Given the description of an element on the screen output the (x, y) to click on. 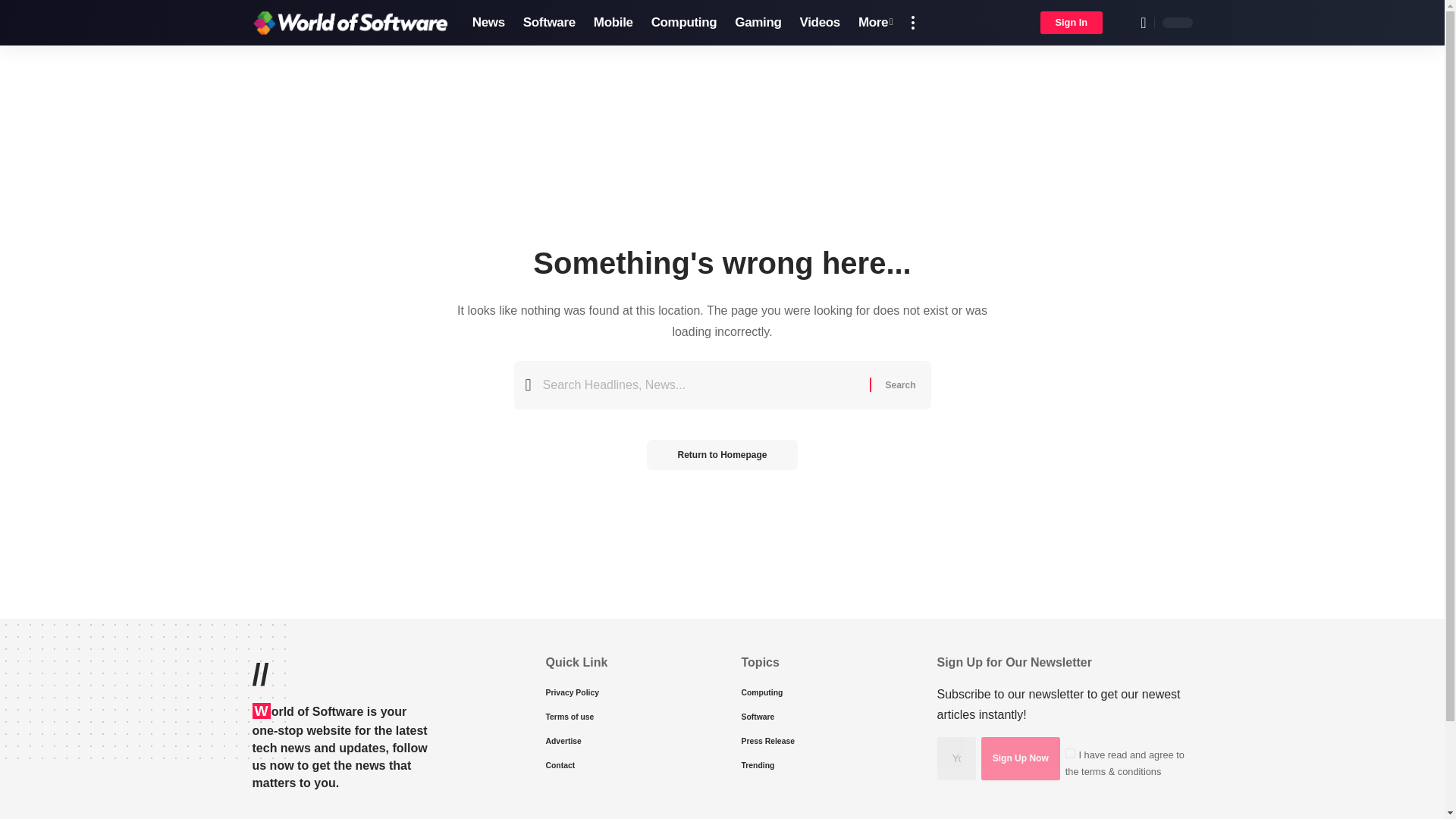
News (488, 22)
Search (899, 385)
1 (1070, 753)
Computing (684, 22)
Sign Up Now (1020, 758)
Gaming (757, 22)
Sign In (1072, 22)
More (875, 22)
World of Software (348, 22)
Videos (819, 22)
